Given the description of an element on the screen output the (x, y) to click on. 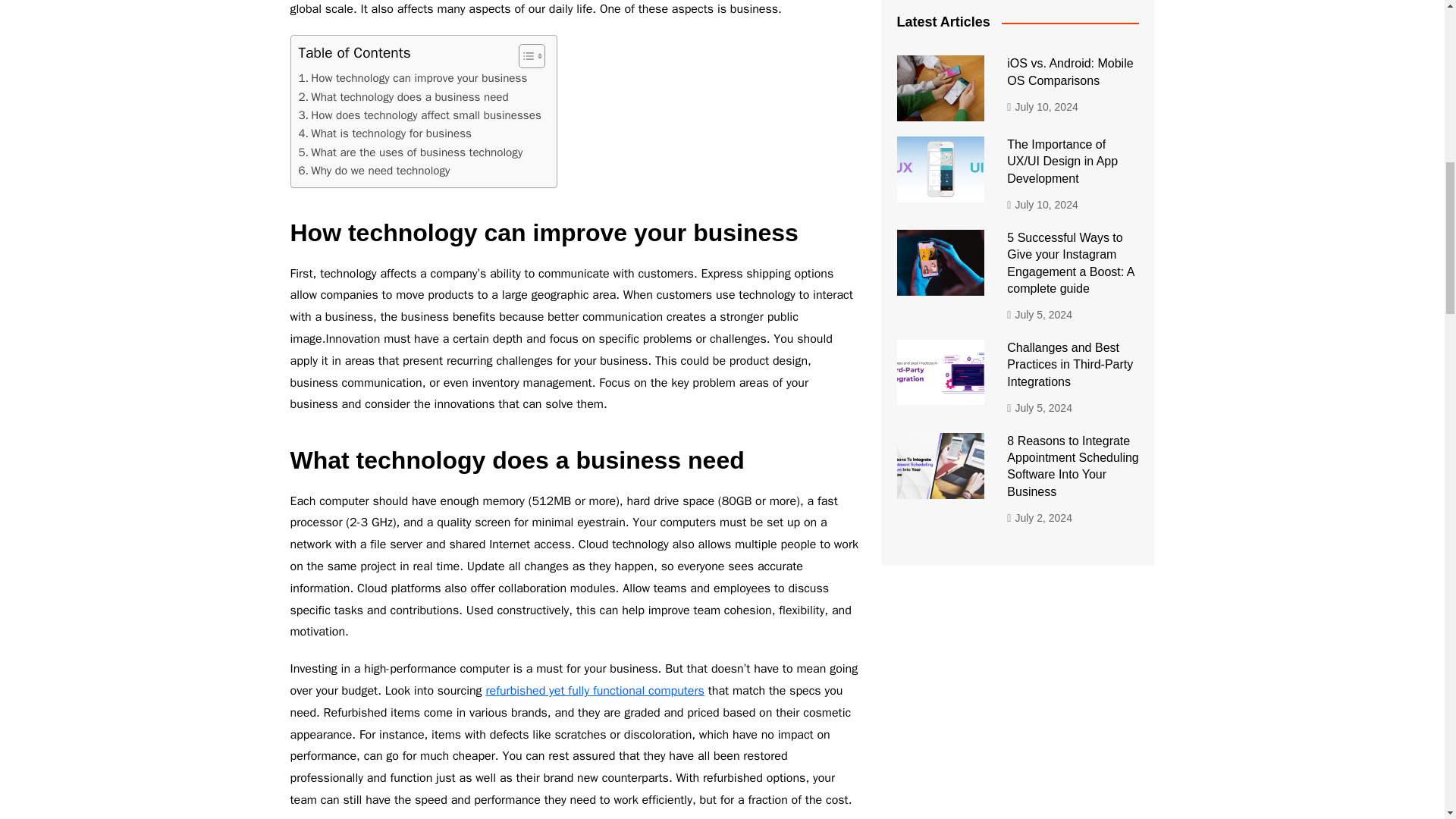
What technology does a business need (403, 96)
Why do we need technology (373, 170)
How does technology affect small businesses (419, 115)
How technology can improve your business (412, 77)
What are the uses of business technology (410, 152)
How technology can improve your business (412, 77)
What is technology for business (384, 133)
